Given the description of an element on the screen output the (x, y) to click on. 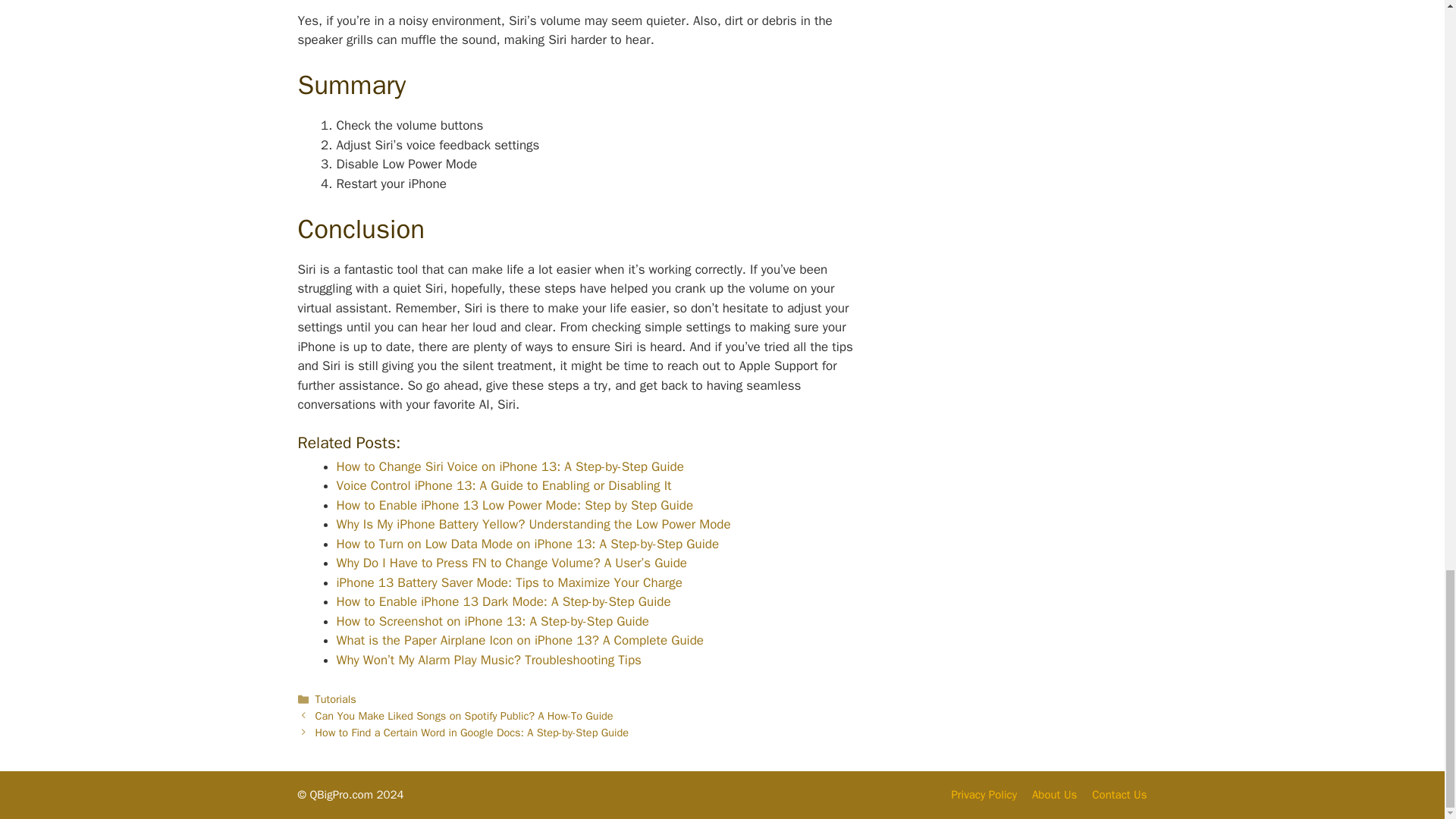
How to Enable iPhone 13 Dark Mode: A Step-by-Step Guide (503, 601)
Tutorials (335, 698)
How to Screenshot on iPhone 13: A Step-by-Step Guide (492, 621)
Voice Control iPhone 13: A Guide to Enabling or Disabling It (503, 485)
How to Enable iPhone 13 Low Power Mode: Step by Step Guide (515, 505)
How to Enable iPhone 13 Low Power Mode: Step by Step Guide (515, 505)
iPhone 13 Battery Saver Mode: Tips to Maximize Your Charge (509, 582)
